Given the description of an element on the screen output the (x, y) to click on. 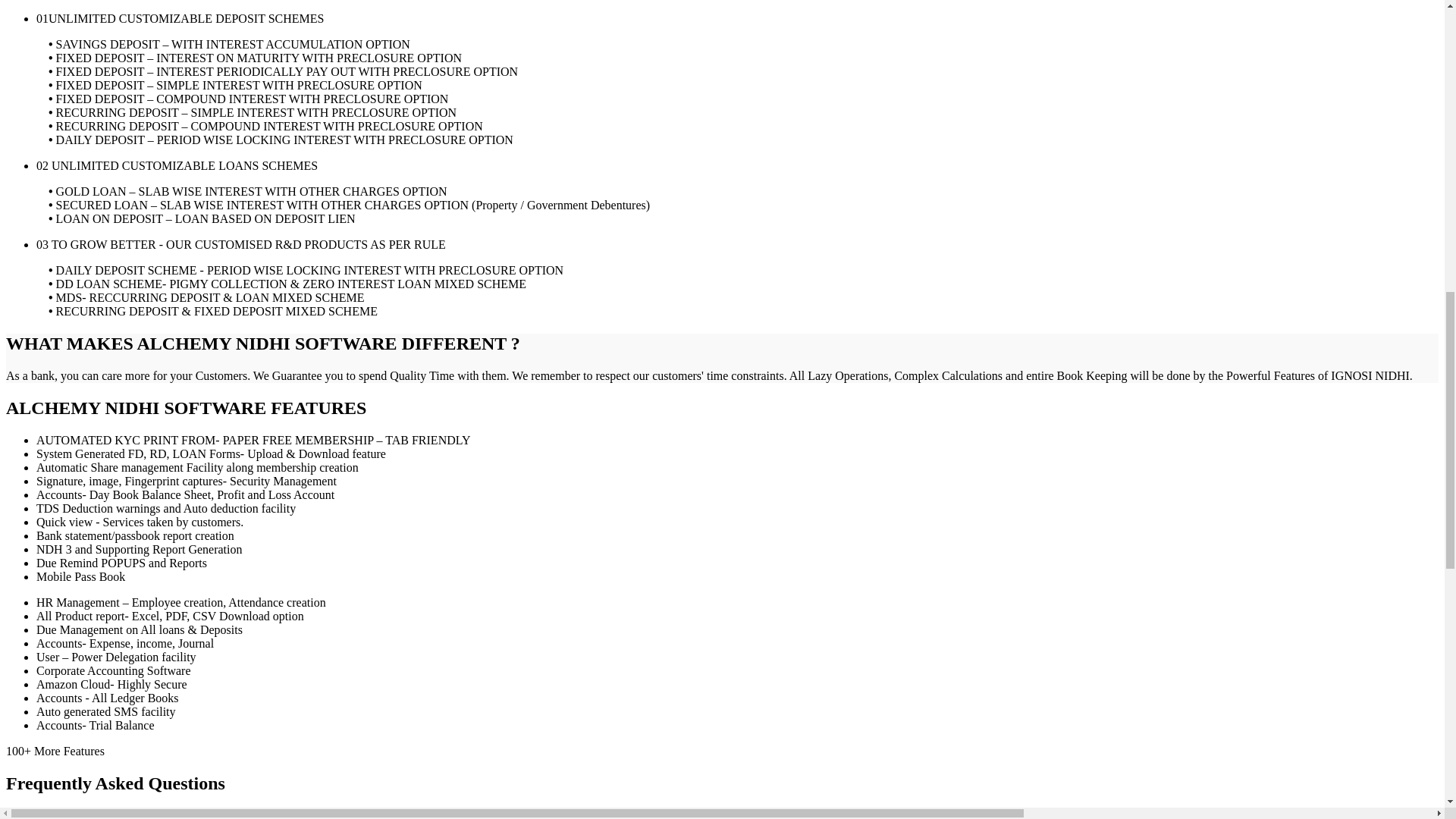
01UNLIMITED CUSTOMIZABLE DEPOSIT SCHEMES (179, 18)
02 UNLIMITED CUSTOMIZABLE LOANS SCHEMES (176, 164)
What is Nidhi company? (96, 814)
